Given the description of an element on the screen output the (x, y) to click on. 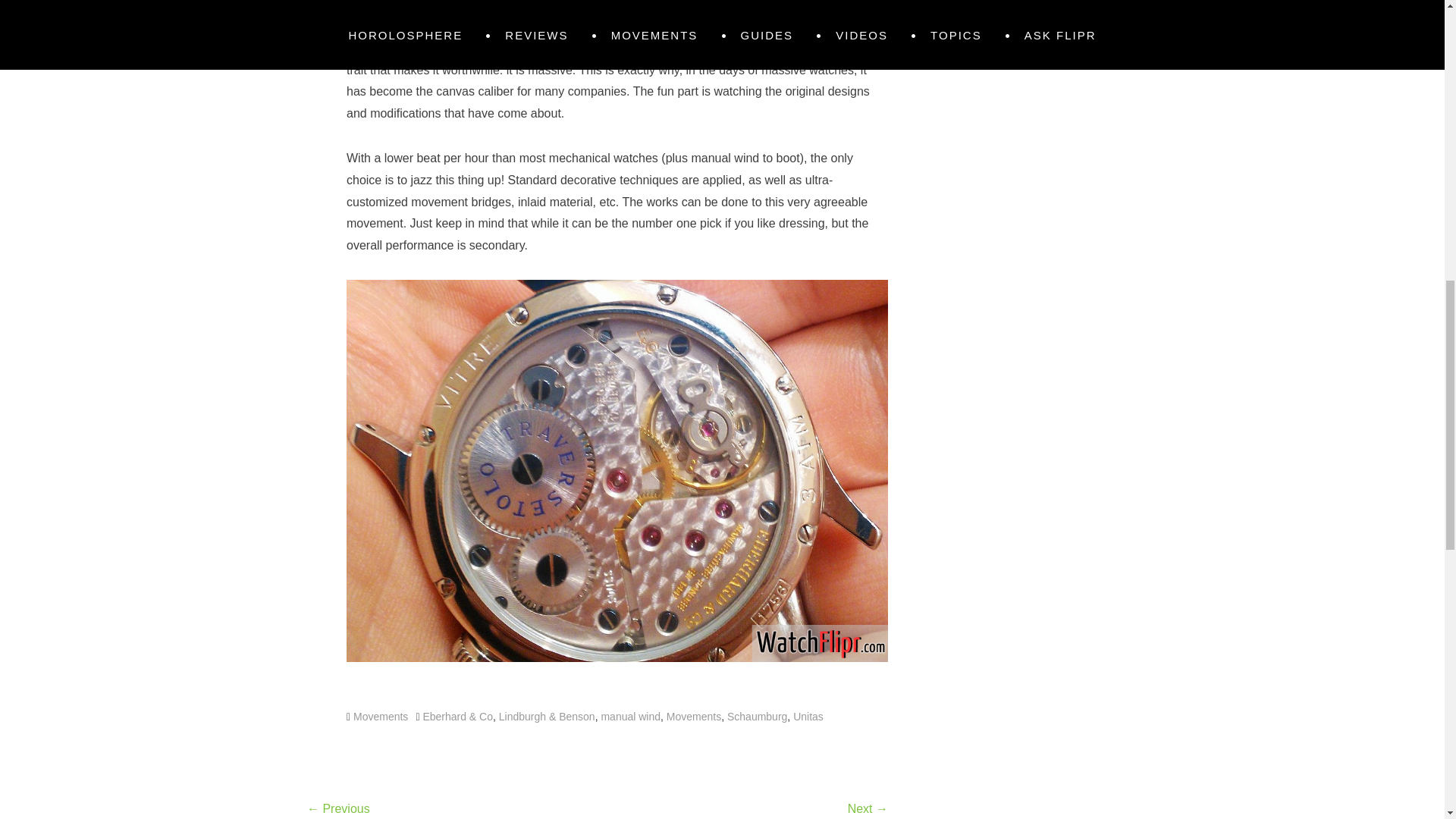
manual wind (630, 716)
Schaumburg (756, 716)
Submit (990, 2)
Submit (990, 2)
Movements (380, 716)
Unitas (808, 716)
Movements (693, 716)
